Given the description of an element on the screen output the (x, y) to click on. 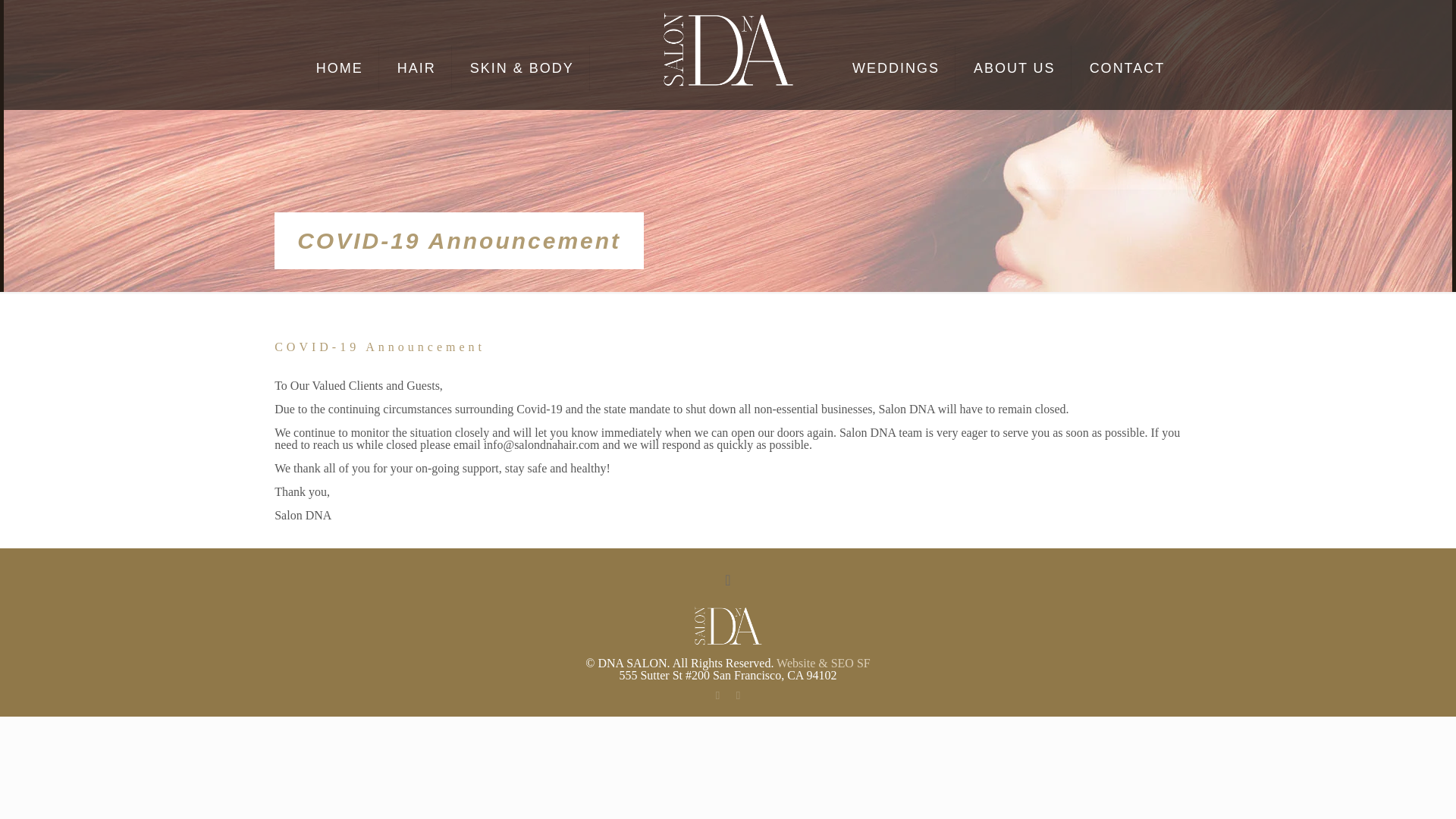
HAIR (416, 68)
ABOUT US (1014, 68)
CONTACT (1127, 68)
WEDDINGS (896, 68)
HOME (339, 68)
Xing (737, 695)
Facebook (717, 695)
